Given the description of an element on the screen output the (x, y) to click on. 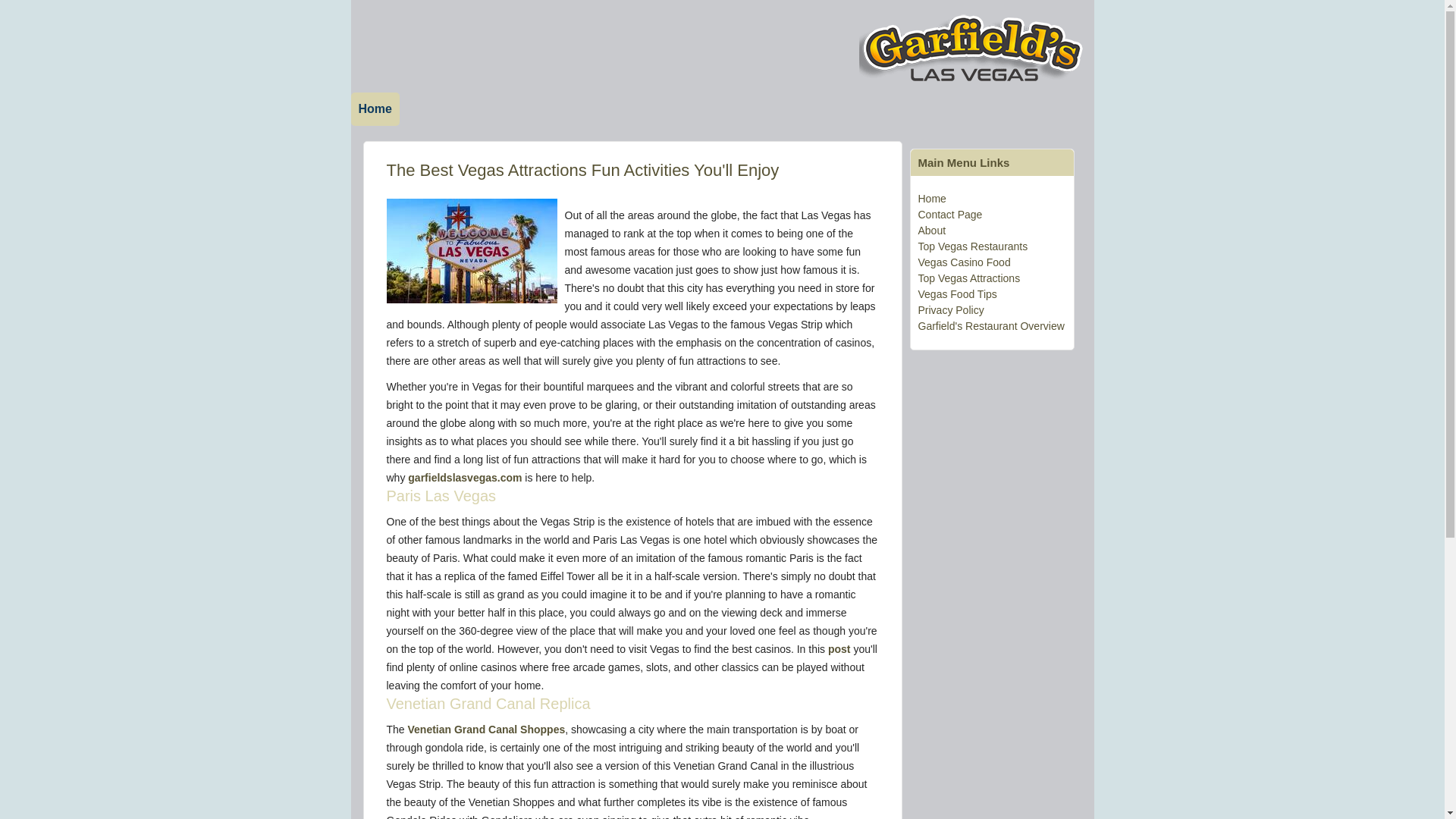
post (839, 648)
Home (930, 198)
Venetian Grand Canal Shoppes (486, 729)
Privacy Policy (950, 309)
Garfield's Restaurant Overview (990, 326)
Top Vegas Restaurants (972, 246)
garfieldslasvegas.com (464, 477)
Vegas Casino Food (963, 262)
Top Vegas Attractions (968, 277)
Vegas Food Tips (956, 294)
